Given the description of an element on the screen output the (x, y) to click on. 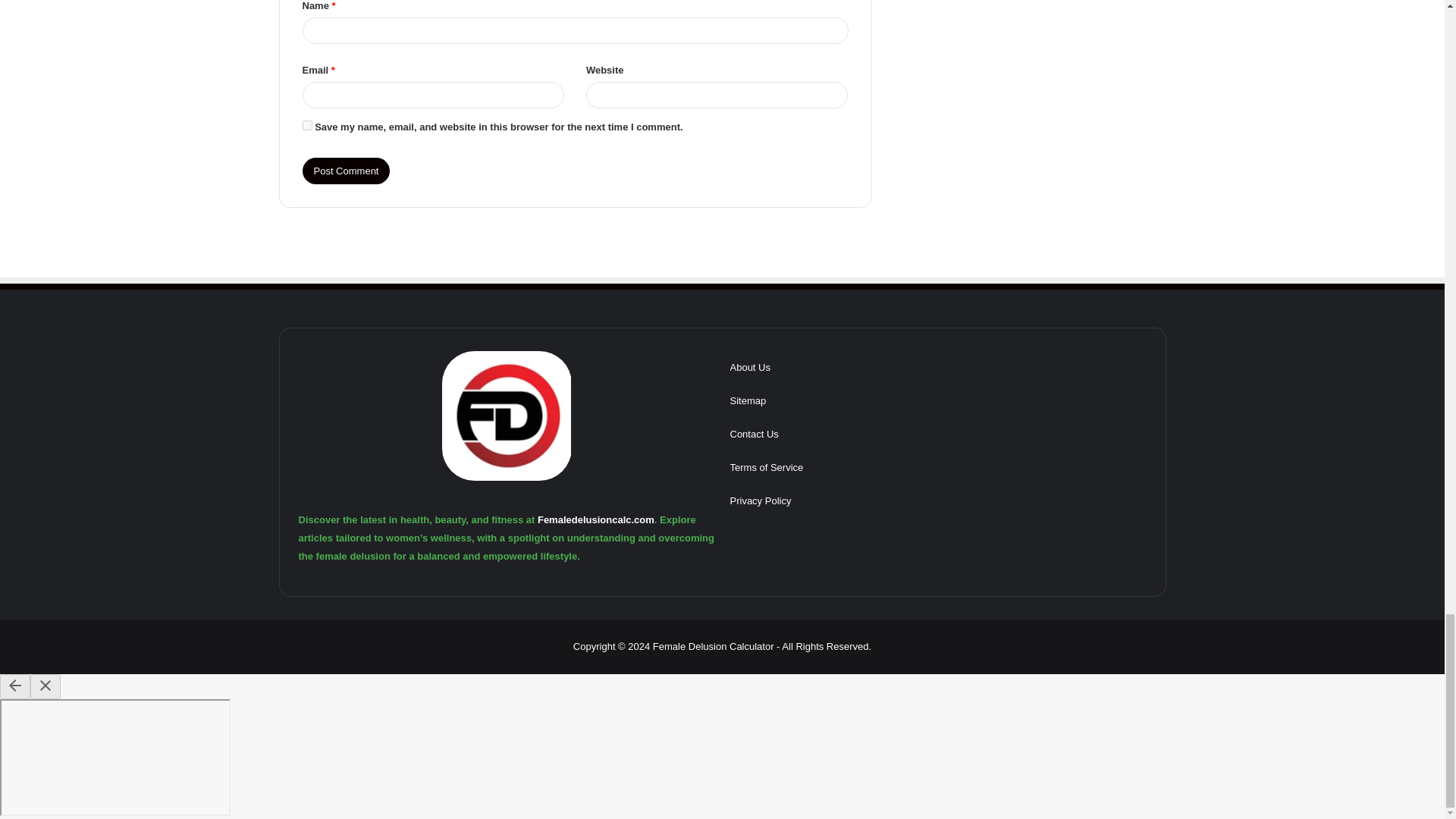
Post Comment (345, 171)
Post Comment (345, 171)
yes (306, 125)
